Given the description of an element on the screen output the (x, y) to click on. 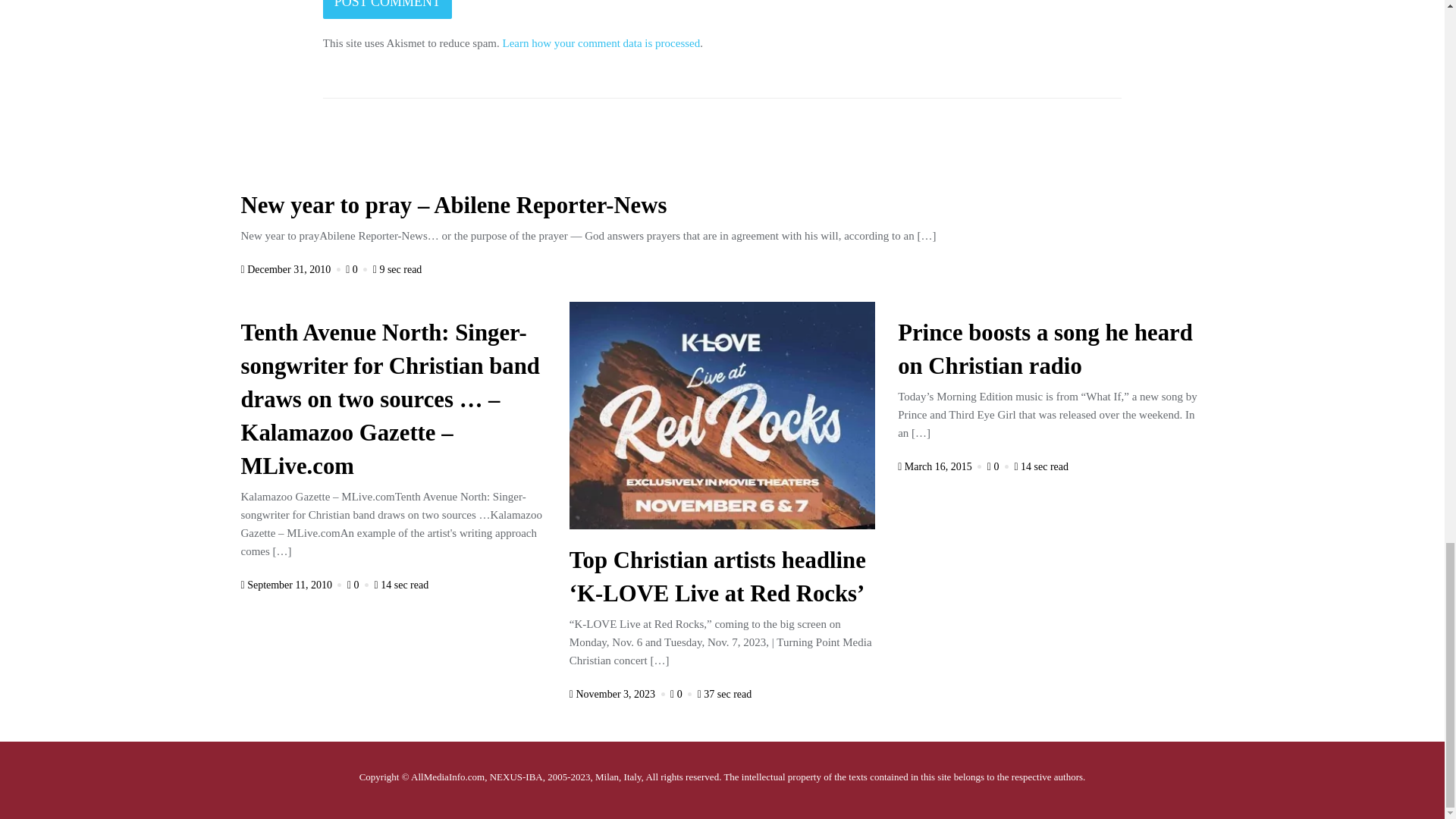
Post Comment (387, 9)
